Given the description of an element on the screen output the (x, y) to click on. 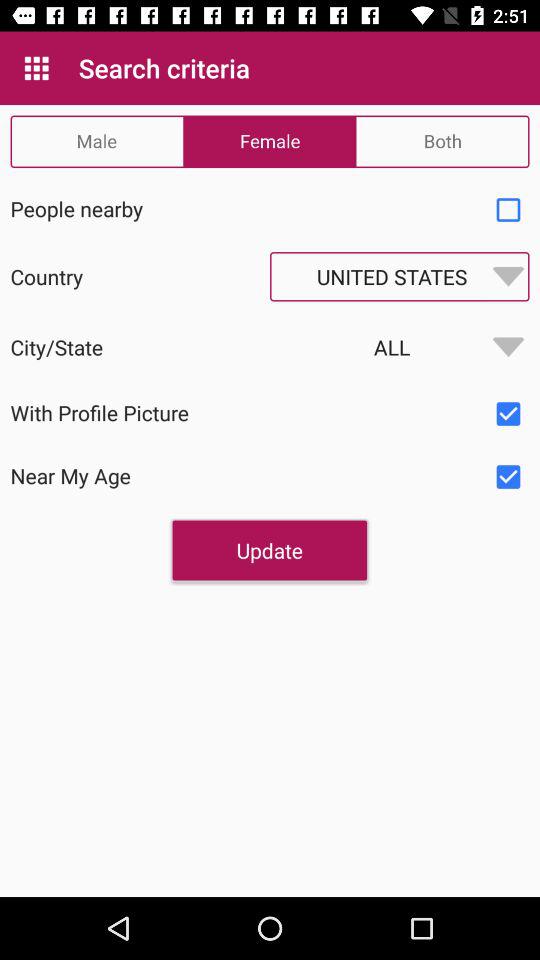
check on the people nearby option (508, 210)
